Given the description of an element on the screen output the (x, y) to click on. 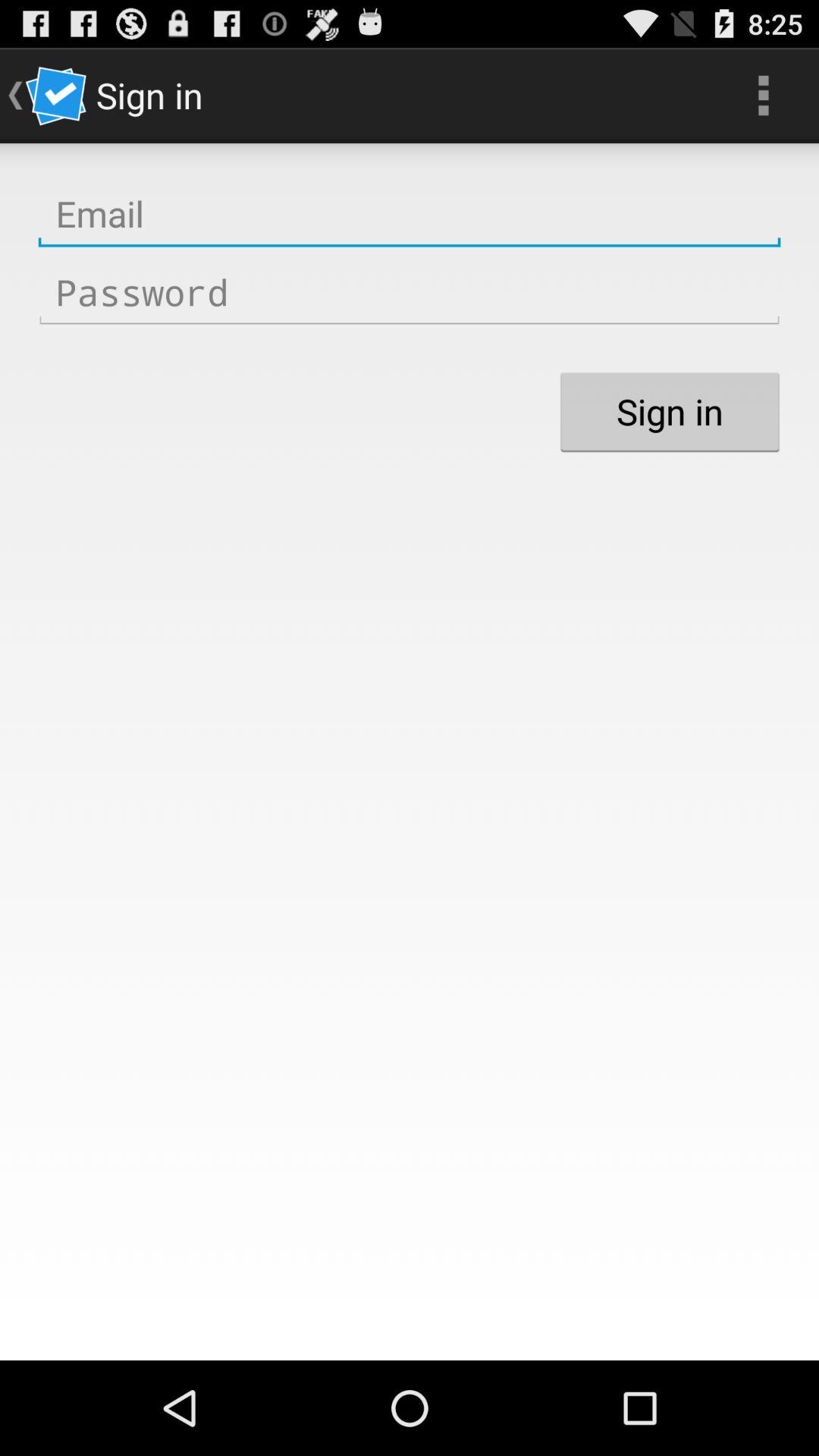
type email (409, 214)
